Given the description of an element on the screen output the (x, y) to click on. 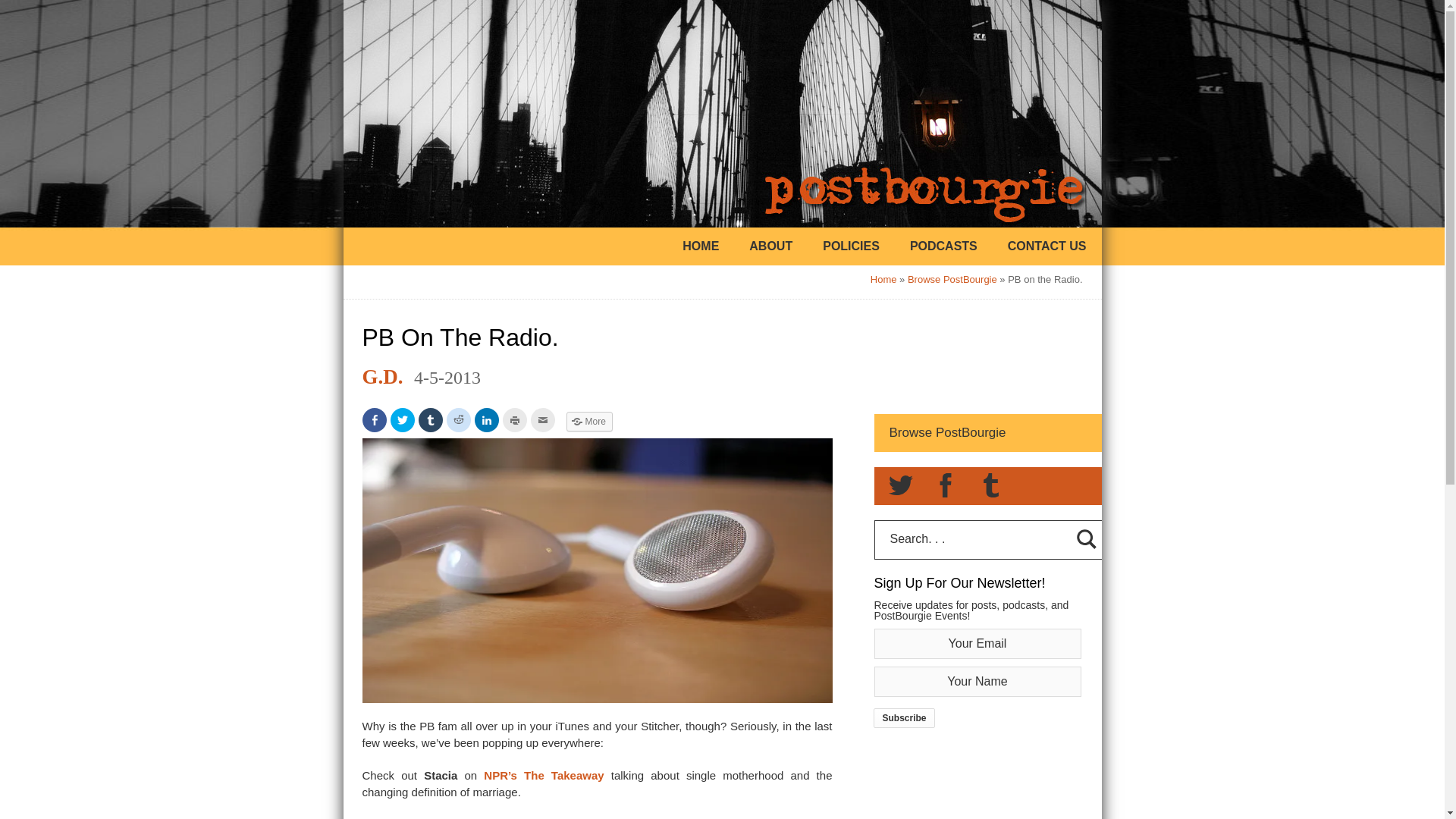
G.D. (382, 376)
POLICIES (850, 245)
Subscribe (903, 718)
Click to share on Facebook (374, 419)
Click to share on LinkedIn (486, 419)
CONTACT US (1046, 245)
The Confab (588, 818)
Click to share on Tumblr (430, 419)
Click to print (513, 419)
Click to share on Twitter (401, 419)
HOME (700, 245)
More (588, 420)
Click to share on Reddit (457, 419)
Home (883, 279)
Browse PostBourgie (952, 279)
